Given the description of an element on the screen output the (x, y) to click on. 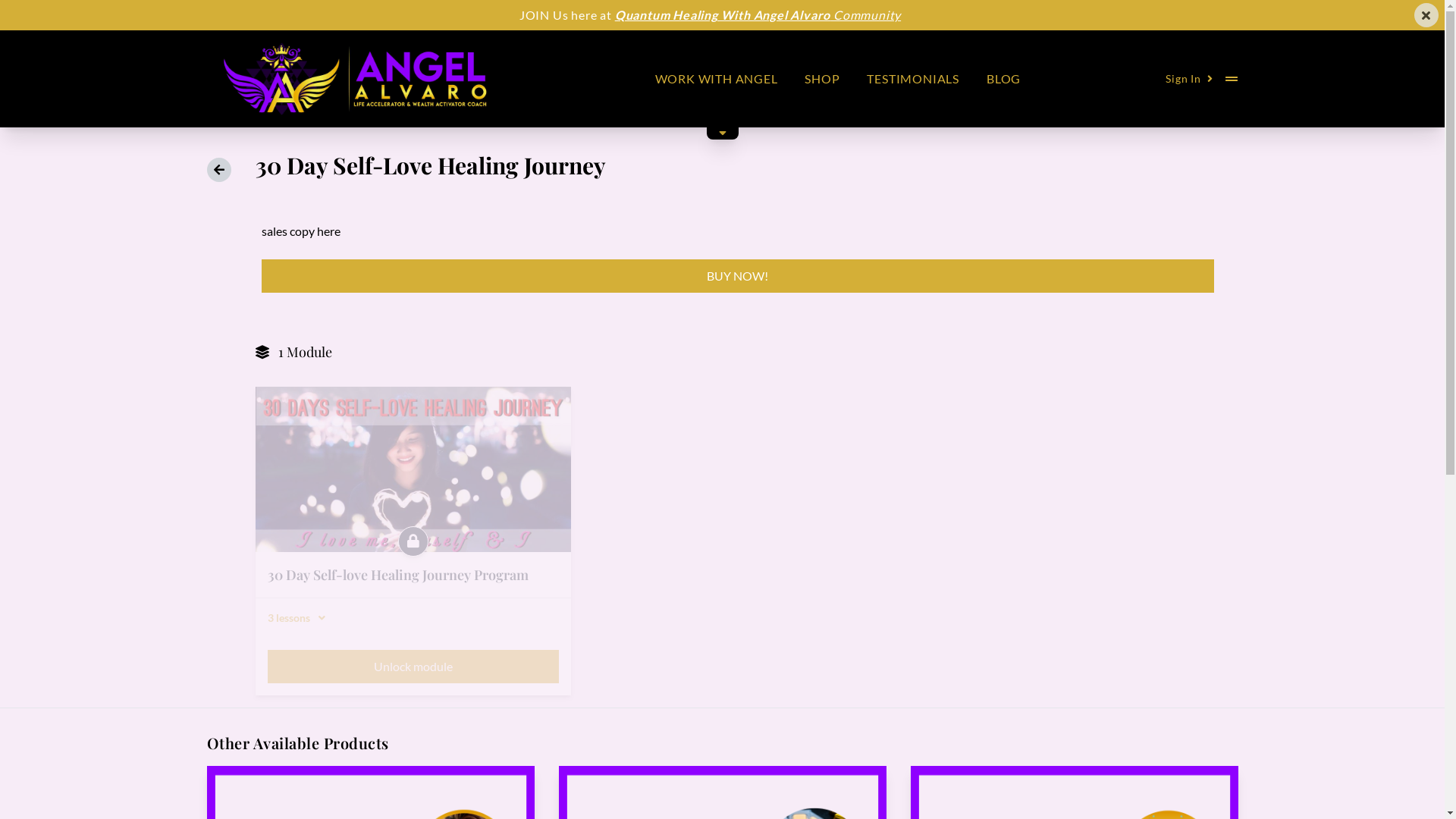
BLOG Element type: text (1003, 78)
Unlock module Element type: text (412, 666)
WORK WITH ANGEL Element type: text (716, 78)
Quantum Healing With Angel Alvaro Community Element type: text (757, 14)
SHOP Element type: text (821, 78)
search Element type: text (20, 9)
3 lessons Element type: text (412, 617)
Sign In Element type: text (1188, 78)
TESTIMONIALS Element type: text (912, 78)
BUY NOW! Element type: text (736, 275)
